Given the description of an element on the screen output the (x, y) to click on. 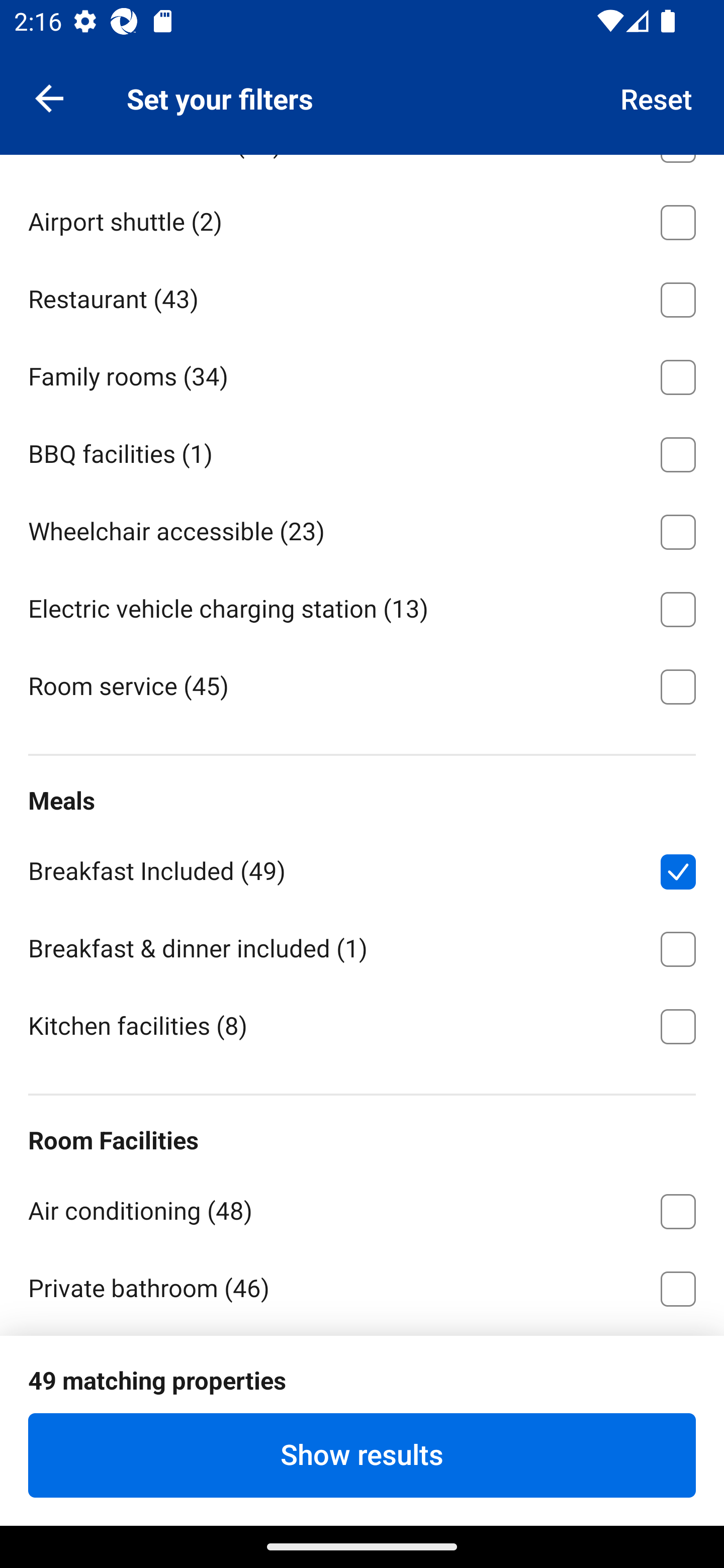
Navigate up (49, 97)
Reset (656, 97)
Airport shuttle ⁦(2) (361, 218)
Restaurant ⁦(43) (361, 296)
Family rooms ⁦(34) (361, 373)
BBQ facilities ⁦(1) (361, 450)
Wheelchair accessible ⁦(23) (361, 528)
Electric vehicle charging station ⁦(13) (361, 605)
Room service ⁦(45) (361, 684)
Breakfast Included ⁦(49) (361, 868)
Breakfast & dinner included ⁦(1) (361, 945)
Kitchen facilities ⁦(8) (361, 1024)
Air conditioning ⁦(48) (361, 1207)
Private bathroom ⁦(46) (361, 1285)
Show results (361, 1454)
